Given the description of an element on the screen output the (x, y) to click on. 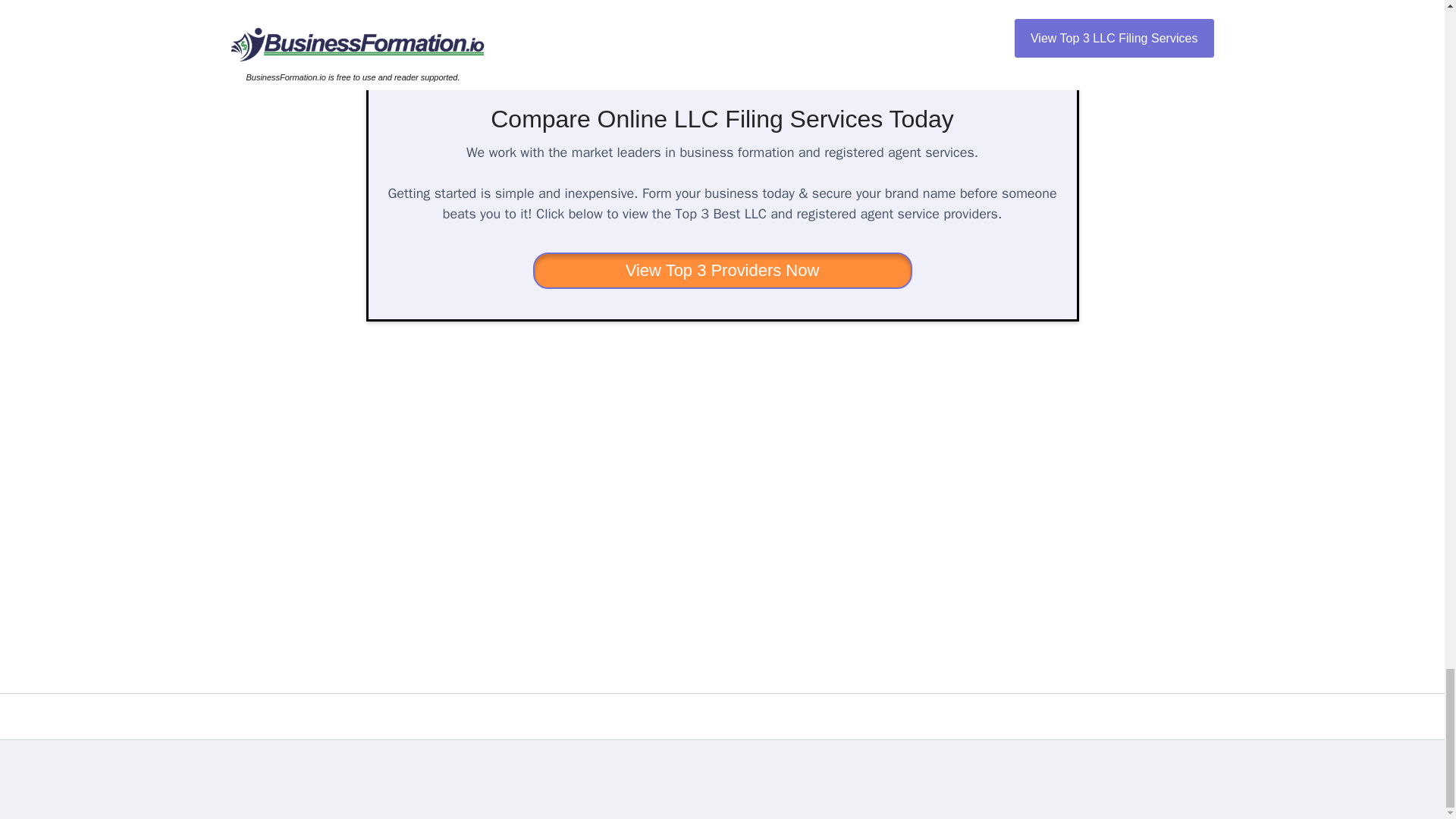
View Top 3 Providers Now (721, 270)
